Given the description of an element on the screen output the (x, y) to click on. 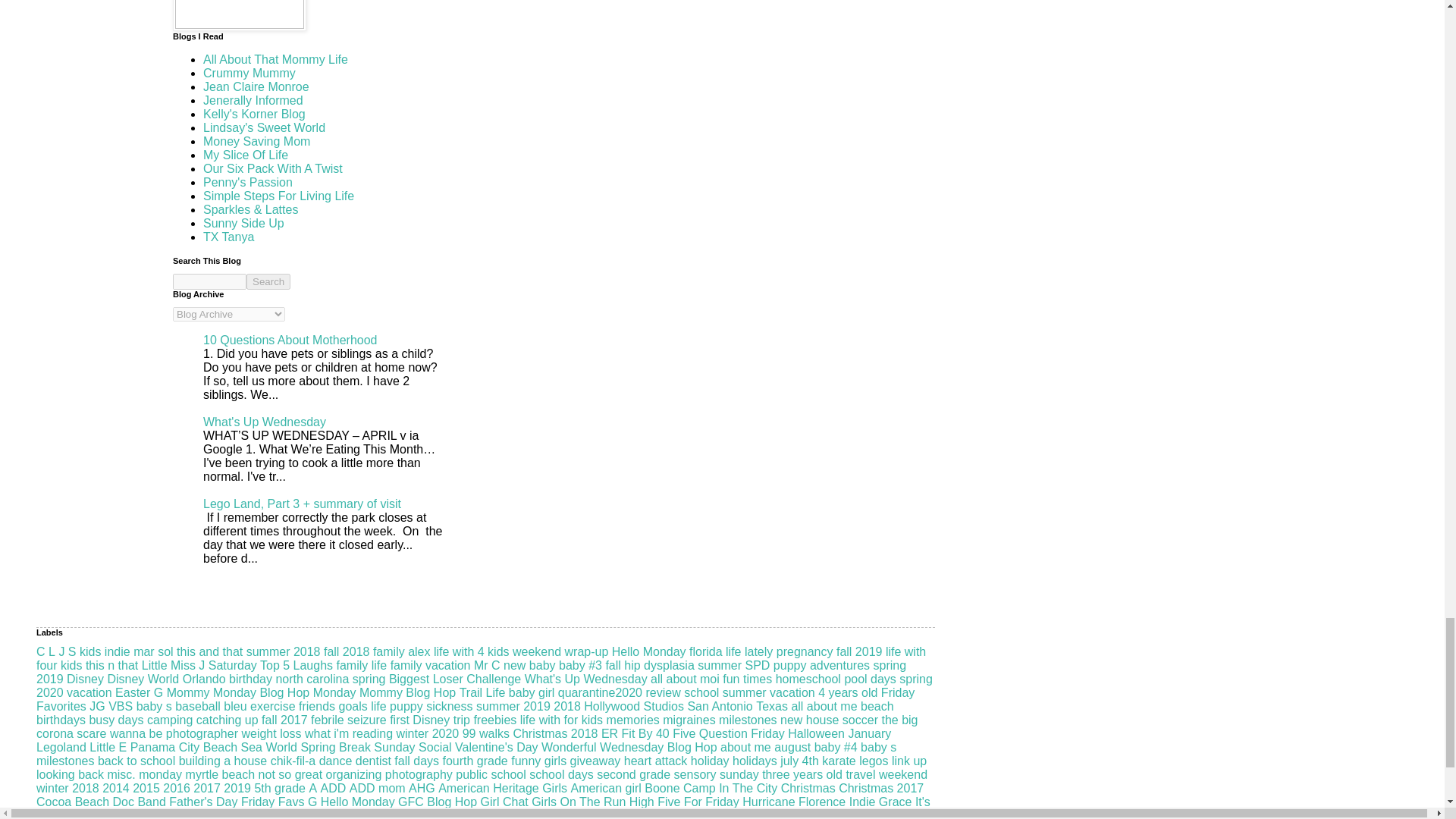
search (267, 281)
Search (267, 281)
Search (267, 281)
search (209, 281)
